Given the description of an element on the screen output the (x, y) to click on. 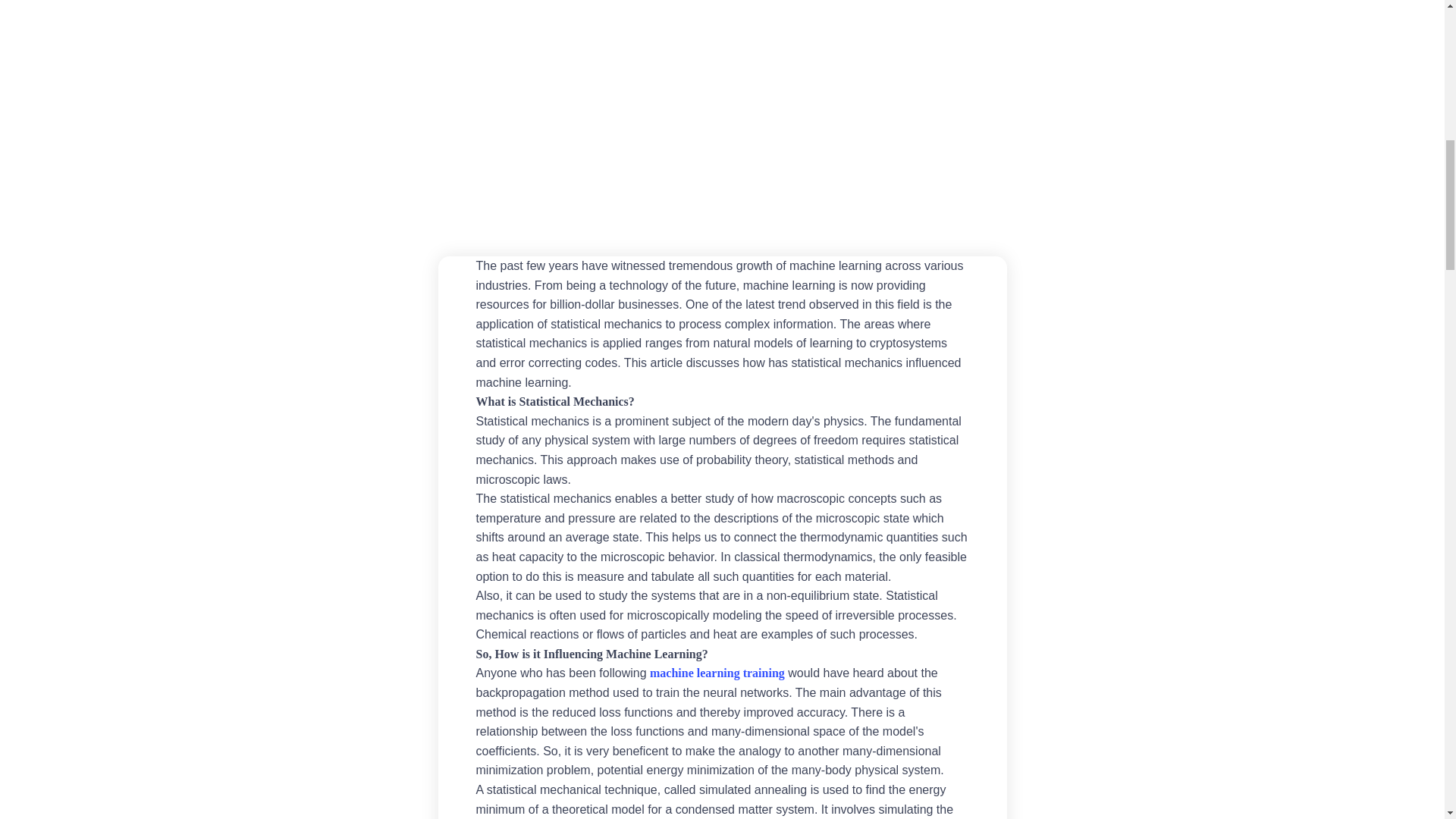
machine learning training (716, 672)
